Given the description of an element on the screen output the (x, y) to click on. 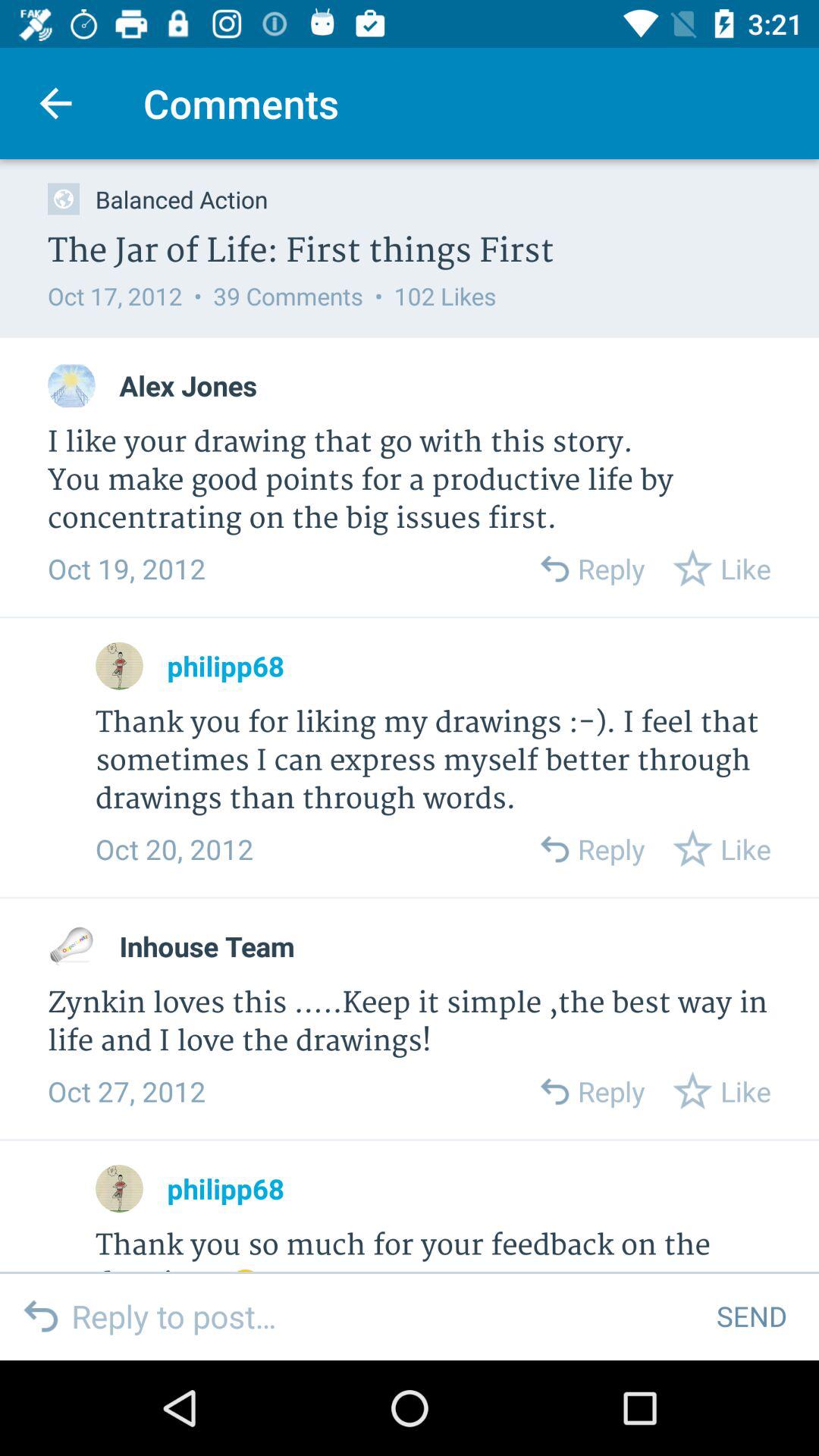
choose the inhouse team icon (206, 946)
